Given the description of an element on the screen output the (x, y) to click on. 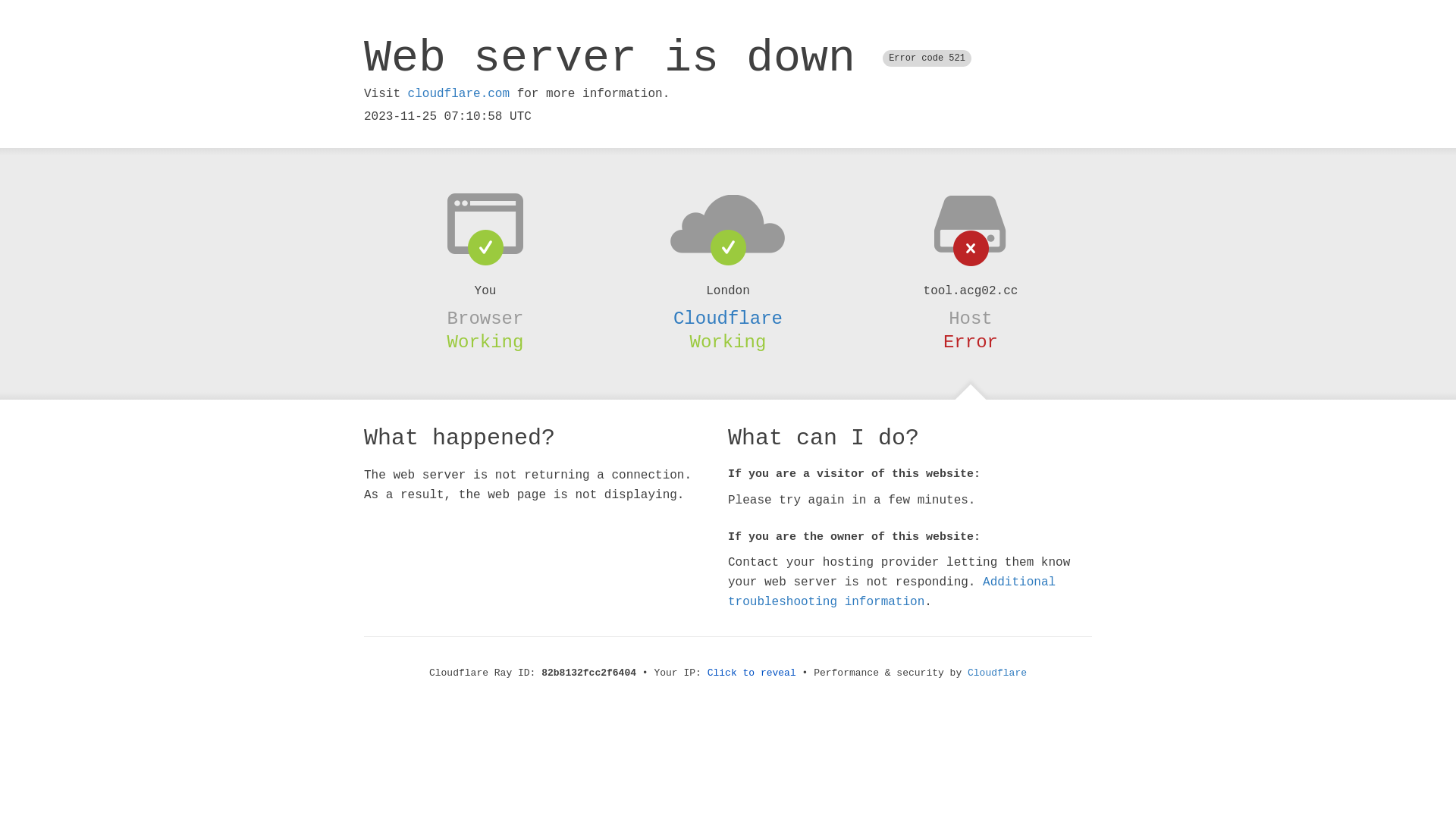
Cloudflare Element type: text (996, 672)
Cloudflare Element type: text (727, 318)
Click to reveal Element type: text (751, 672)
cloudflare.com Element type: text (458, 93)
Additional troubleshooting information Element type: text (891, 591)
